Given the description of an element on the screen output the (x, y) to click on. 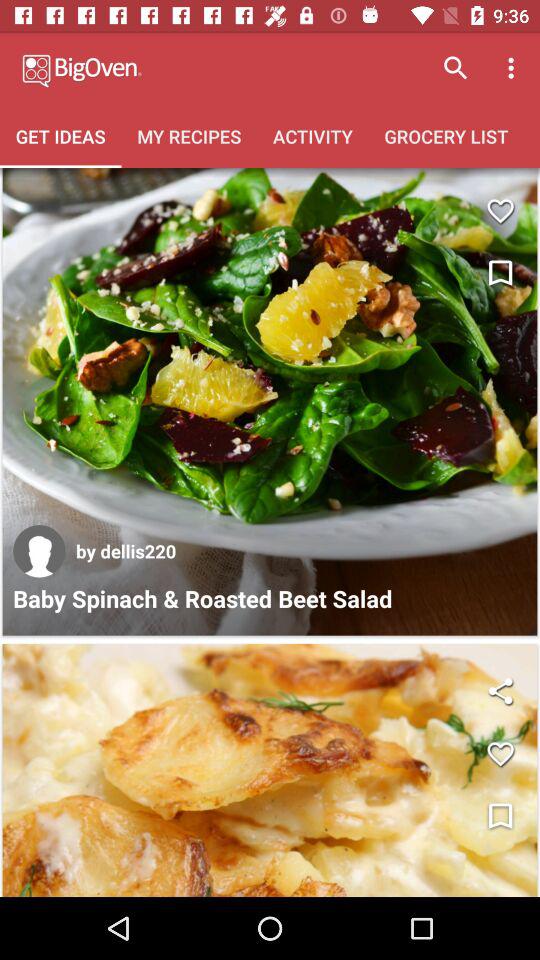
share recipe (500, 690)
